Given the description of an element on the screen output the (x, y) to click on. 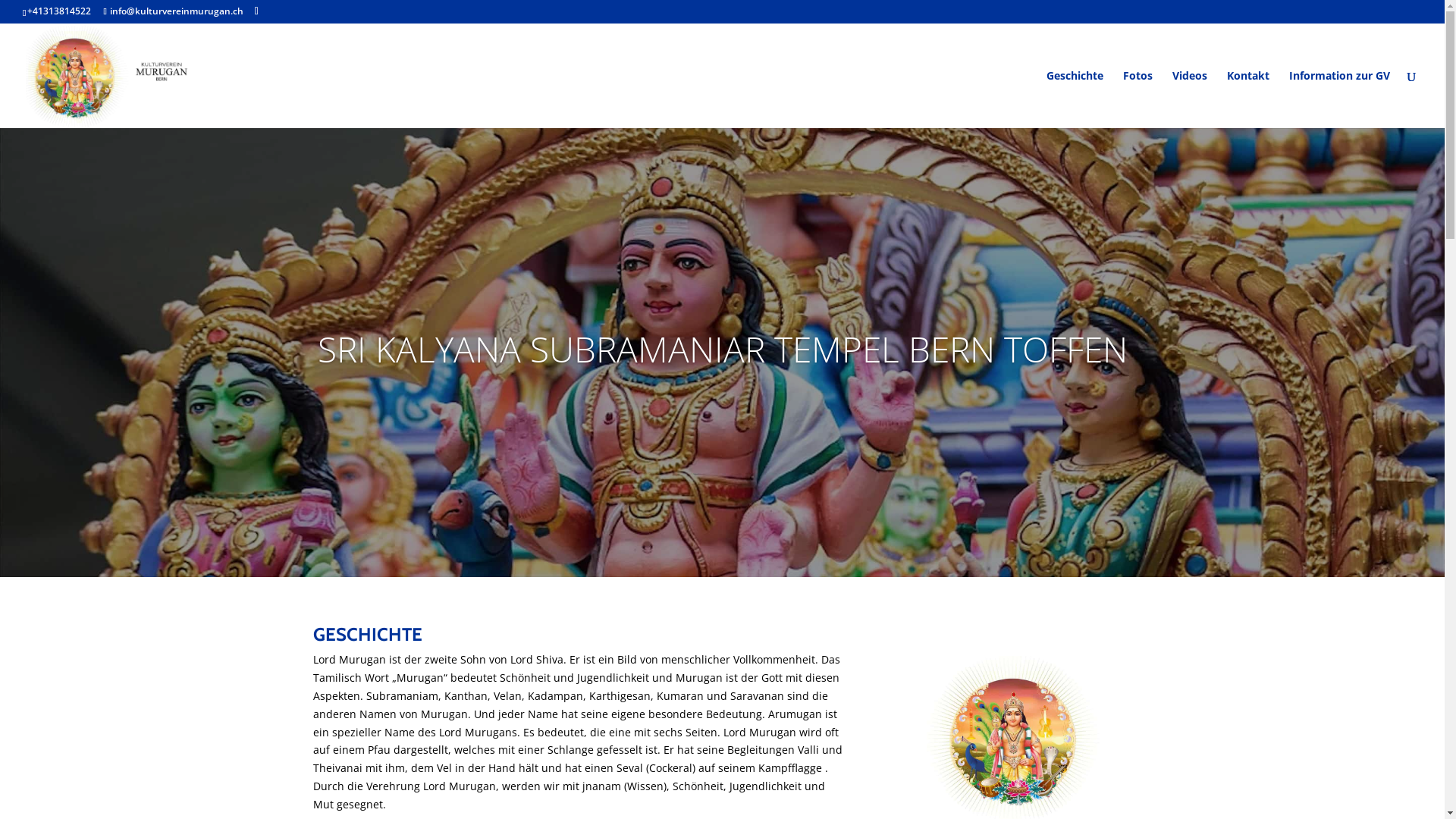
info@kulturvereinmurugan.ch Element type: text (172, 10)
Kontakt Element type: text (1247, 99)
Information zur GV Element type: text (1339, 99)
Videos Element type: text (1189, 99)
Fotos Element type: text (1137, 99)
Geschichte Element type: text (1074, 99)
